Given the description of an element on the screen output the (x, y) to click on. 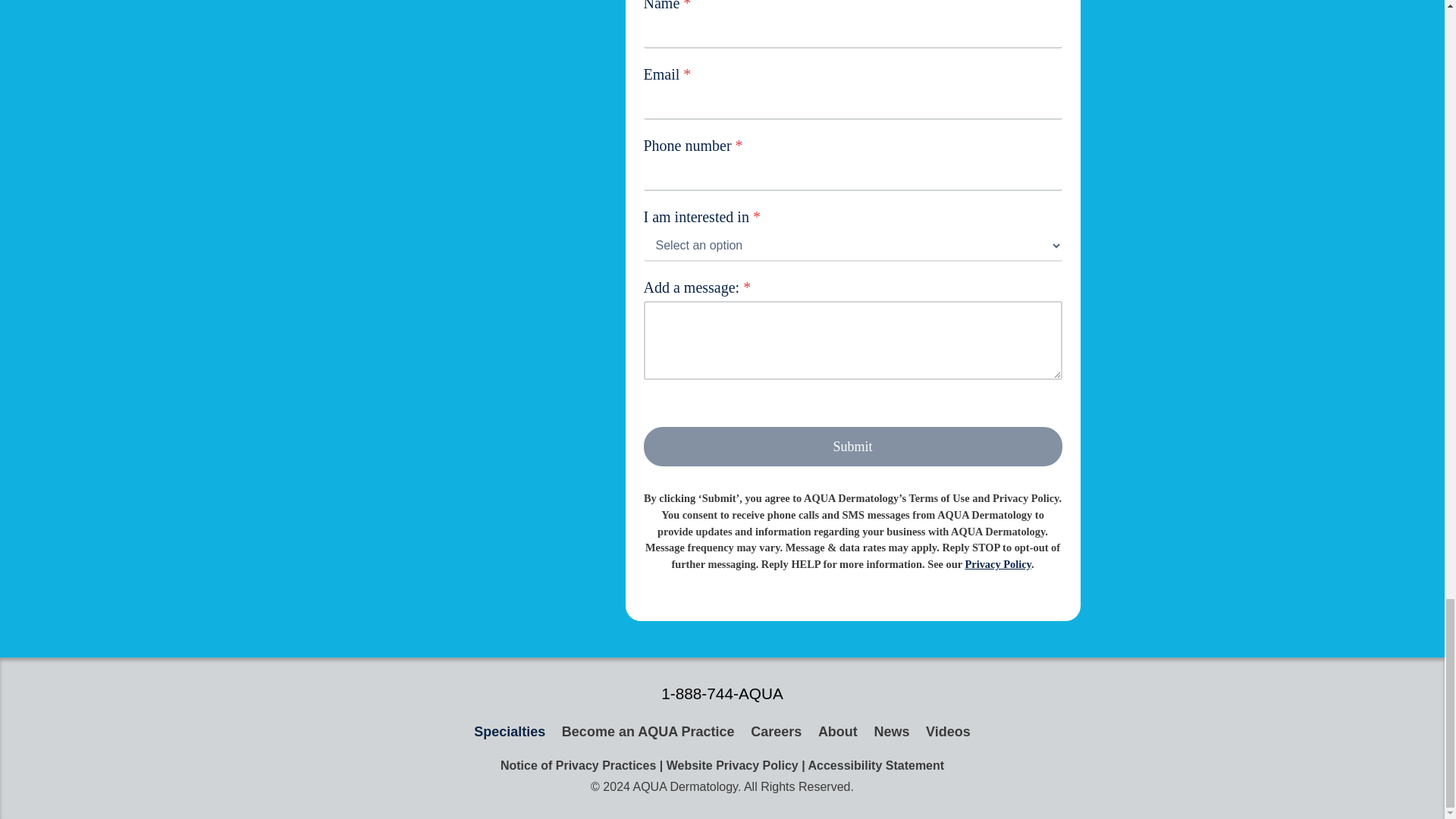
News (892, 732)
Submit (852, 446)
Privacy Policy (996, 563)
Accessibility Statement (875, 765)
Careers (775, 732)
Specialties (509, 732)
1-888-744-AQUA (722, 692)
Become an AQUA Practice (647, 732)
Videos (947, 732)
Website Privacy Policy (731, 765)
About (837, 732)
Notice of Privacy Practices (578, 765)
